Given the description of an element on the screen output the (x, y) to click on. 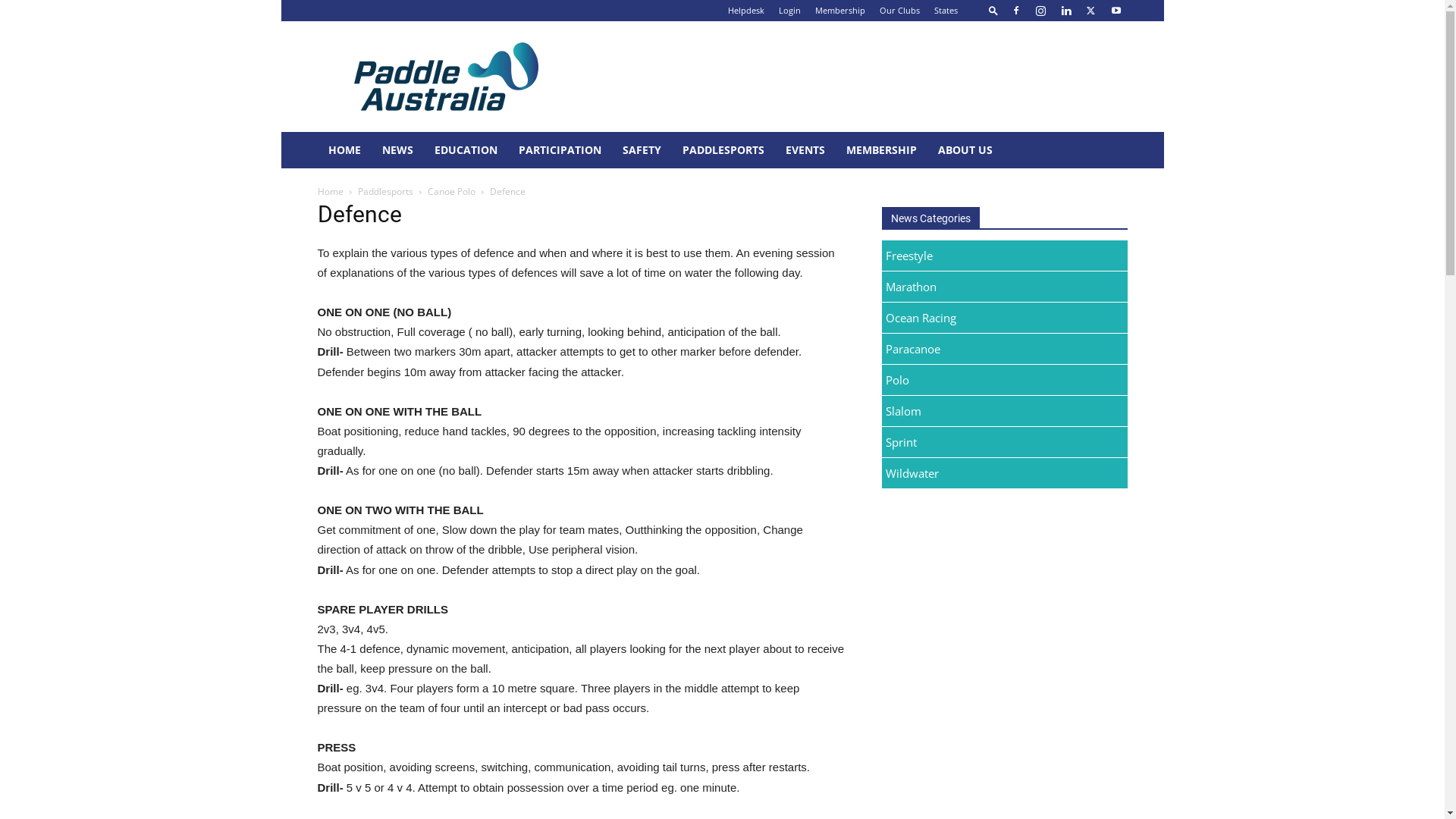
PARTICIPATION Element type: text (559, 149)
EDUCATION Element type: text (465, 149)
Login Element type: text (789, 9)
Wildwater Element type: text (1003, 473)
States Element type: text (945, 9)
ABOUT US Element type: text (964, 149)
Twitter Element type: hover (1090, 10)
Freestyle Element type: text (1003, 255)
Membership Element type: text (839, 9)
Search Element type: text (1085, 64)
NEWS Element type: text (397, 149)
Polo Element type: text (1003, 379)
EVENTS Element type: text (805, 149)
PADDLESPORTS Element type: text (723, 149)
Slalom Element type: text (1003, 410)
Home Element type: text (329, 191)
Canoe Polo Element type: text (451, 191)
Sprint Element type: text (1003, 442)
Youtube Element type: hover (1115, 10)
Linkedin Element type: hover (1065, 10)
Instagram Element type: hover (1040, 10)
Paddlesports Element type: text (385, 191)
Our Clubs Element type: text (899, 9)
Ocean Racing Element type: text (1003, 317)
MEMBERSHIP Element type: text (881, 149)
SAFETY Element type: text (641, 149)
Facebook Element type: hover (1015, 10)
Marathon Element type: text (1003, 286)
Paracanoe Element type: text (1003, 348)
HOME Element type: text (343, 149)
Helpdesk Element type: text (746, 9)
